Given the description of an element on the screen output the (x, y) to click on. 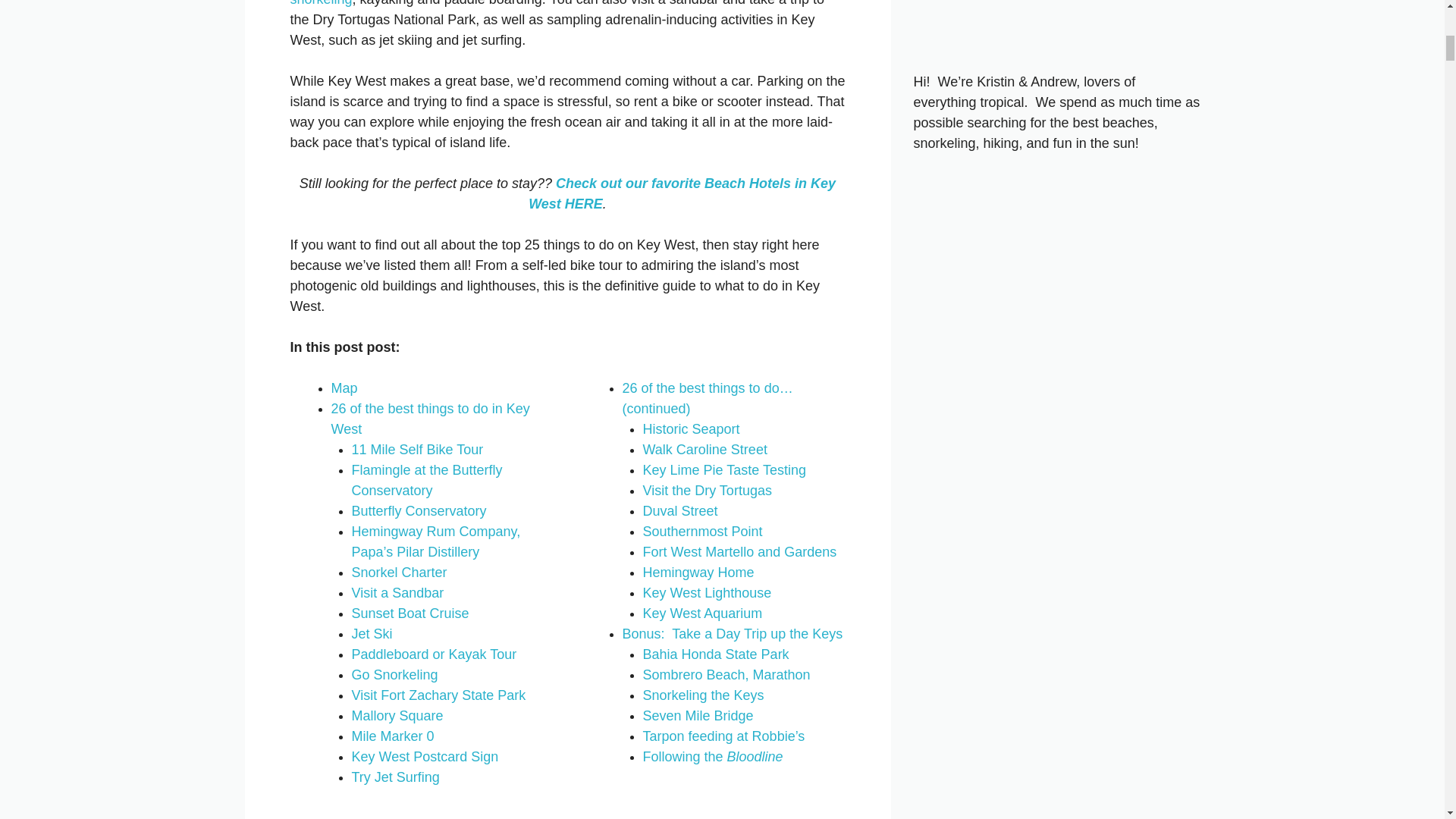
Snorkel Charter (399, 572)
Paddleboard or Kayak Tour (434, 654)
Jet Ski (372, 633)
Check out our favorite Beach Hotels in Key West HERE (681, 193)
Walk Caroline Street (705, 449)
Butterfly Conservatory (419, 510)
Flamingle at the Butterfly Conservatory (427, 479)
Key West offers unparalleled opportunities for snorkeling (561, 3)
11 Mile Self Bike Tour (417, 449)
26 of the best things to do in Key West (429, 418)
Visit a Sandbar (398, 592)
Key West Postcard Sign (425, 756)
Key Lime Pie Taste Testing (724, 469)
Visit Fort Zachary State Park (438, 694)
Map (343, 387)
